Given the description of an element on the screen output the (x, y) to click on. 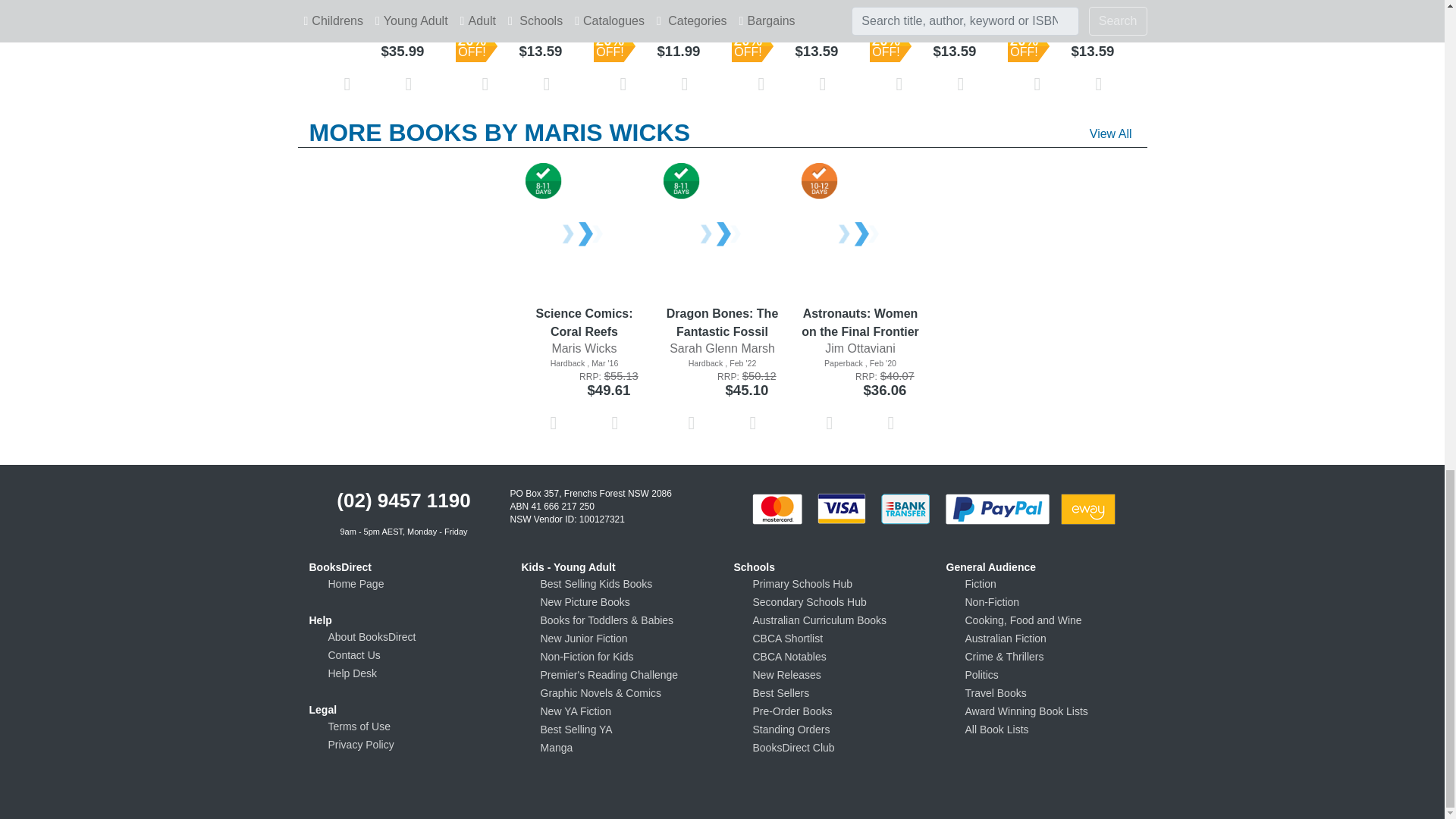
Crookhaven: The Forgotten Maze: Book 2 (516, 0)
J.J. Arcanjo (516, 9)
Add to Wishlist (346, 84)
Add to Cart (409, 84)
Add this book to your wishlist (346, 83)
View other books by author Joel Meadows (377, 10)
Joel Meadows (378, 9)
Masters Of Comics (378, 0)
Add this book to your cart (409, 83)
View other books by author J.J. Arcanjo (515, 10)
